Given the description of an element on the screen output the (x, y) to click on. 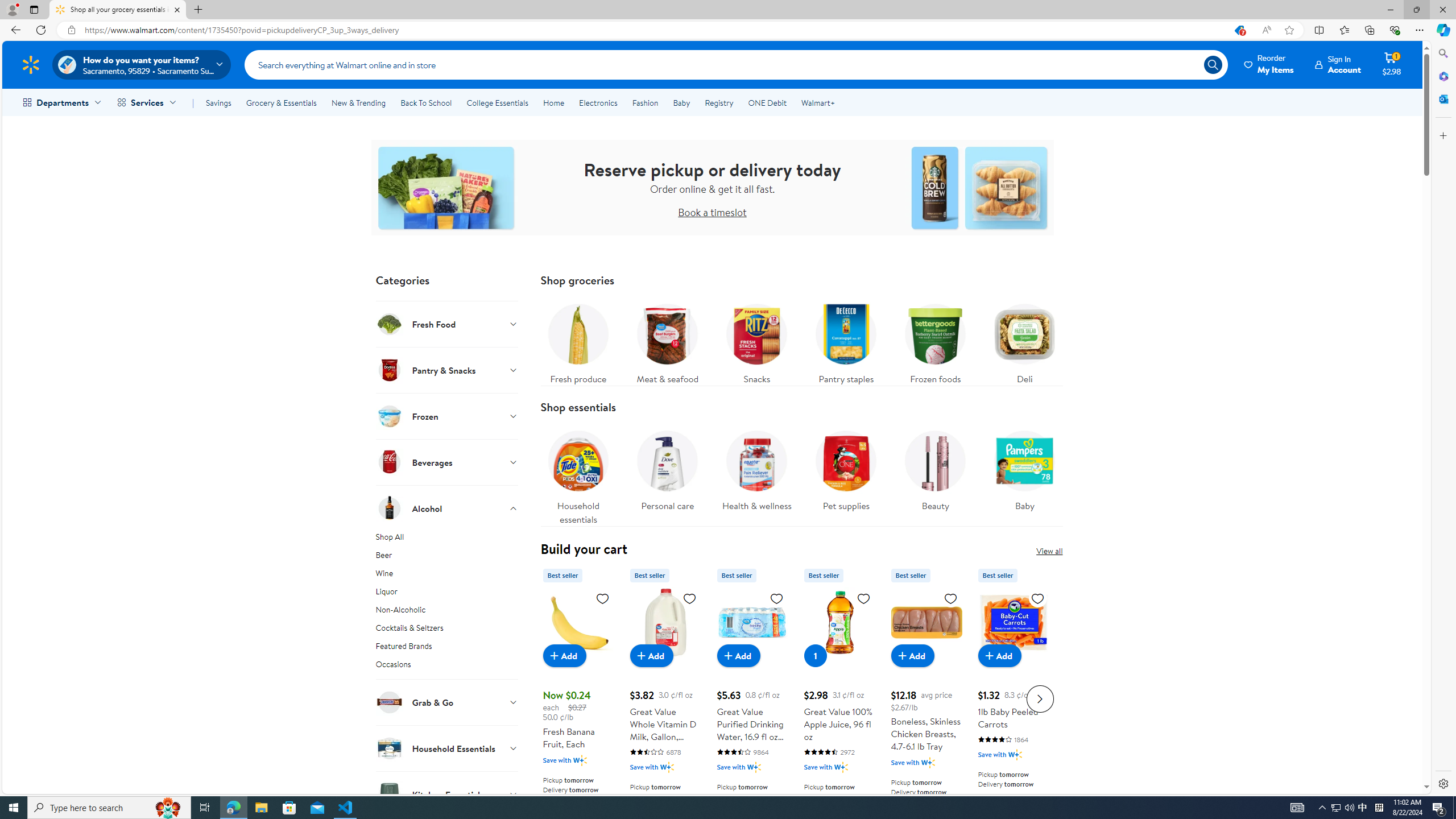
ReorderMy Items (1269, 64)
Liquor (446, 593)
Walmart+ (817, 102)
Baby (1024, 467)
Add to cart - 1lb Baby Peeled Carrots (999, 655)
Sign InAccount (1338, 64)
Boneless, Skinless Chicken Breasts, 4.7-6.1 lb Tray (926, 621)
Meat & seafood (667, 340)
Fresh produce (577, 340)
Fashion (644, 102)
